Given the description of an element on the screen output the (x, y) to click on. 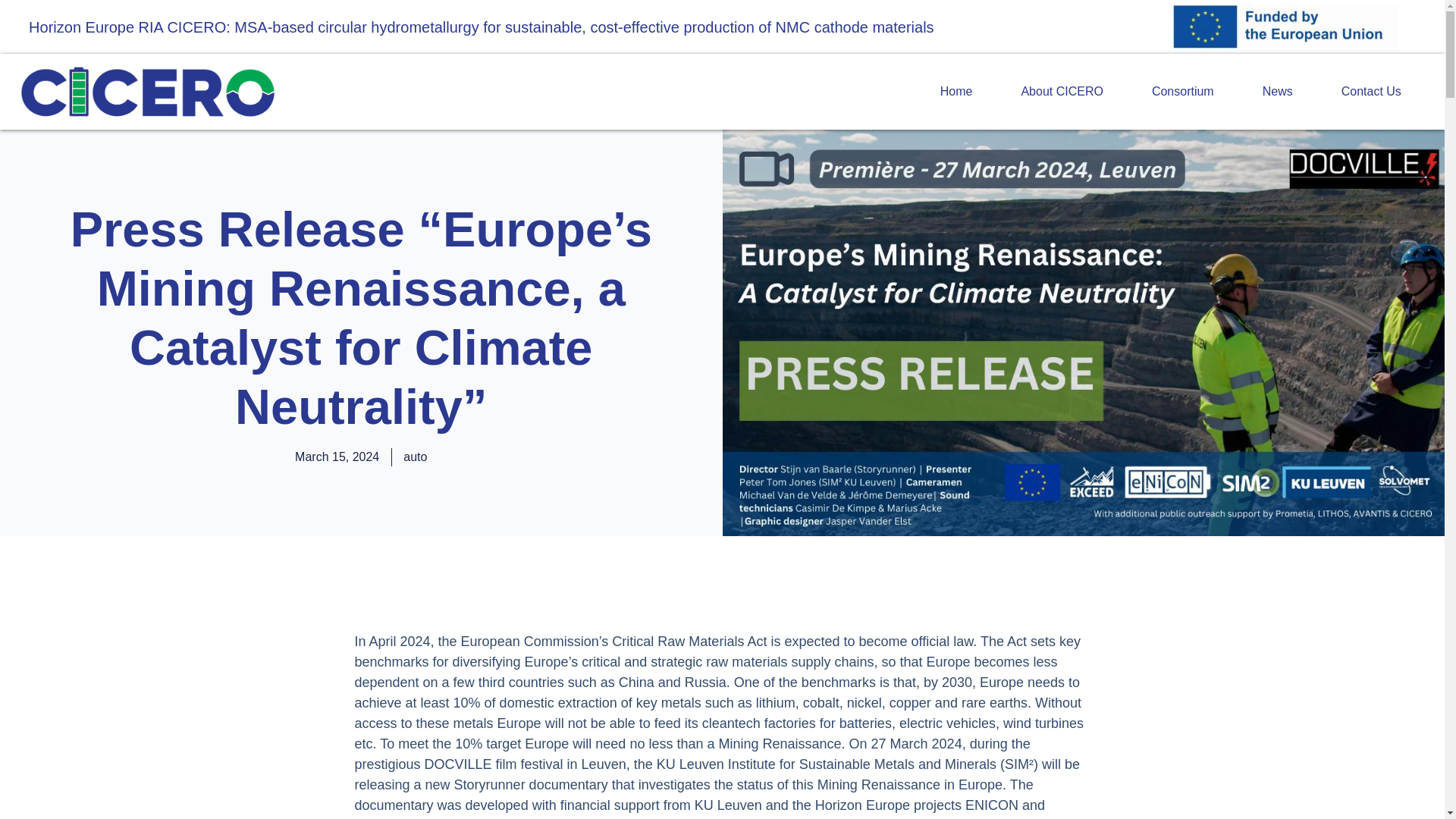
Home (956, 91)
News (1277, 91)
About CICERO (1061, 91)
auto (414, 456)
Contact Us (1370, 91)
March 15, 2024 (336, 456)
Consortium (1182, 91)
